Given the description of an element on the screen output the (x, y) to click on. 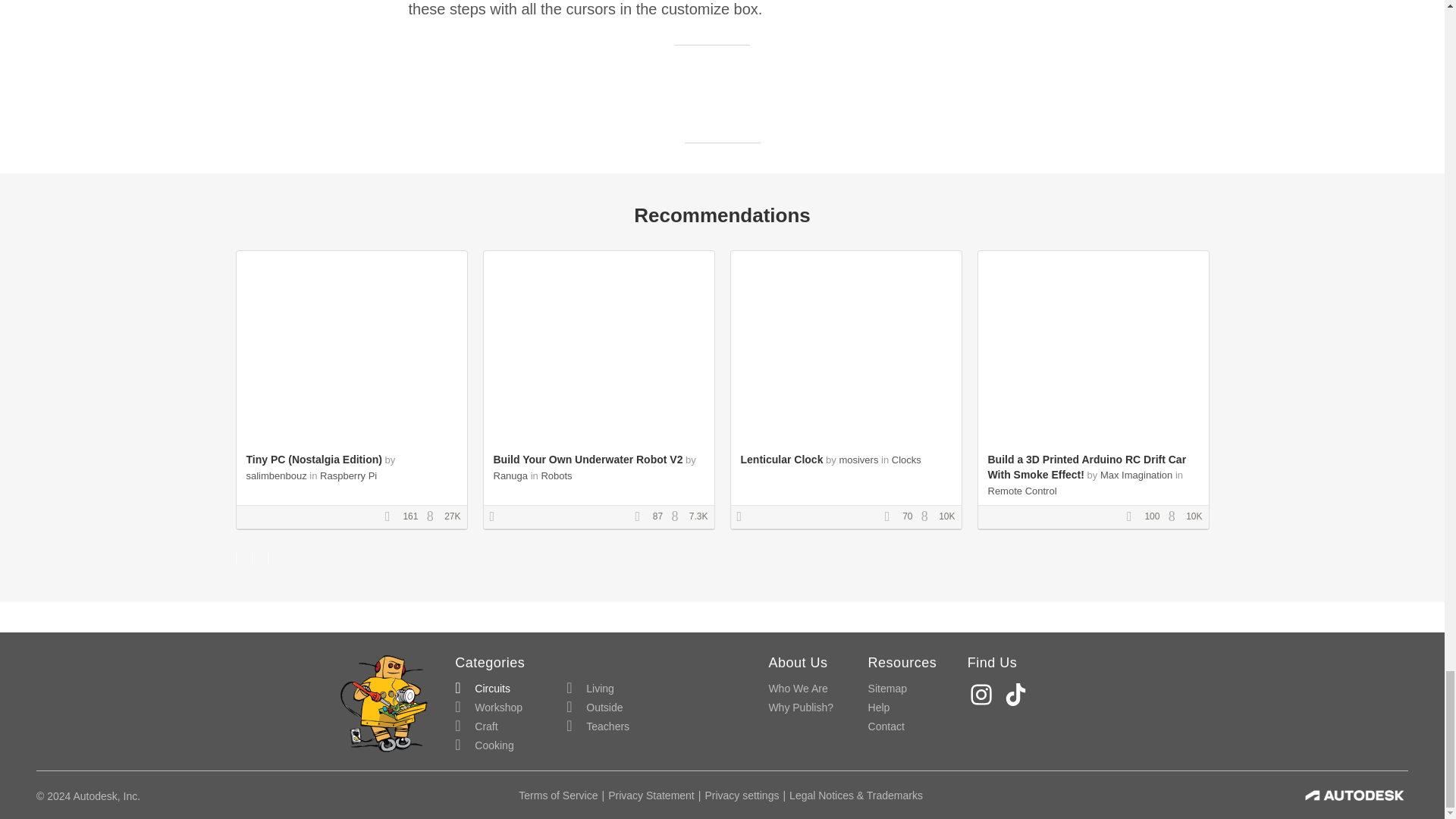
Circuits (482, 688)
Favorites Count (392, 516)
Clocks (906, 460)
Views Count (1176, 516)
Lenticular Clock (780, 459)
Favorites Count (892, 516)
Robots (556, 475)
Contest Winner (497, 516)
Views Count (678, 516)
Views Count (928, 516)
